Given the description of an element on the screen output the (x, y) to click on. 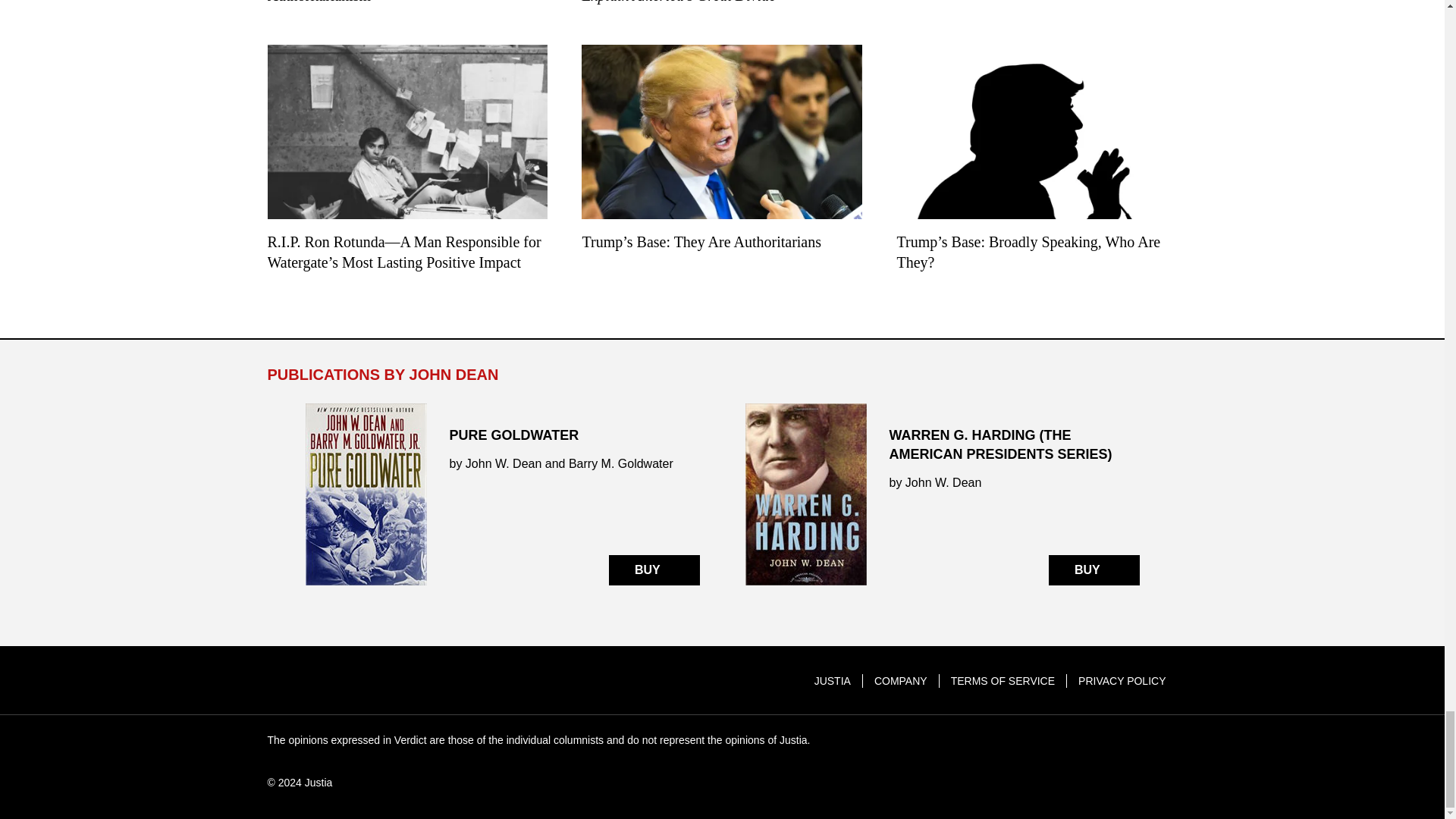
Pure Goldwater (501, 494)
